Given the description of an element on the screen output the (x, y) to click on. 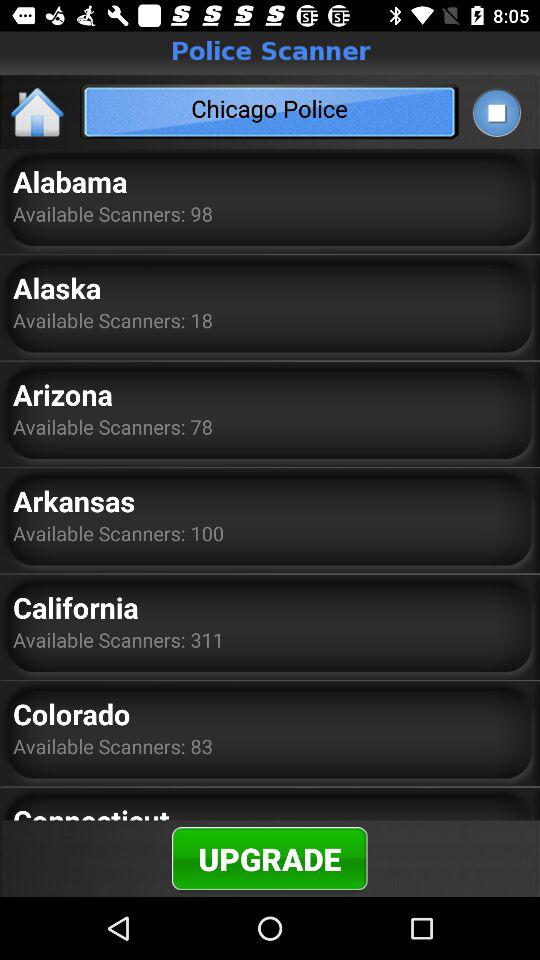
press the alabama app (70, 181)
